Given the description of an element on the screen output the (x, y) to click on. 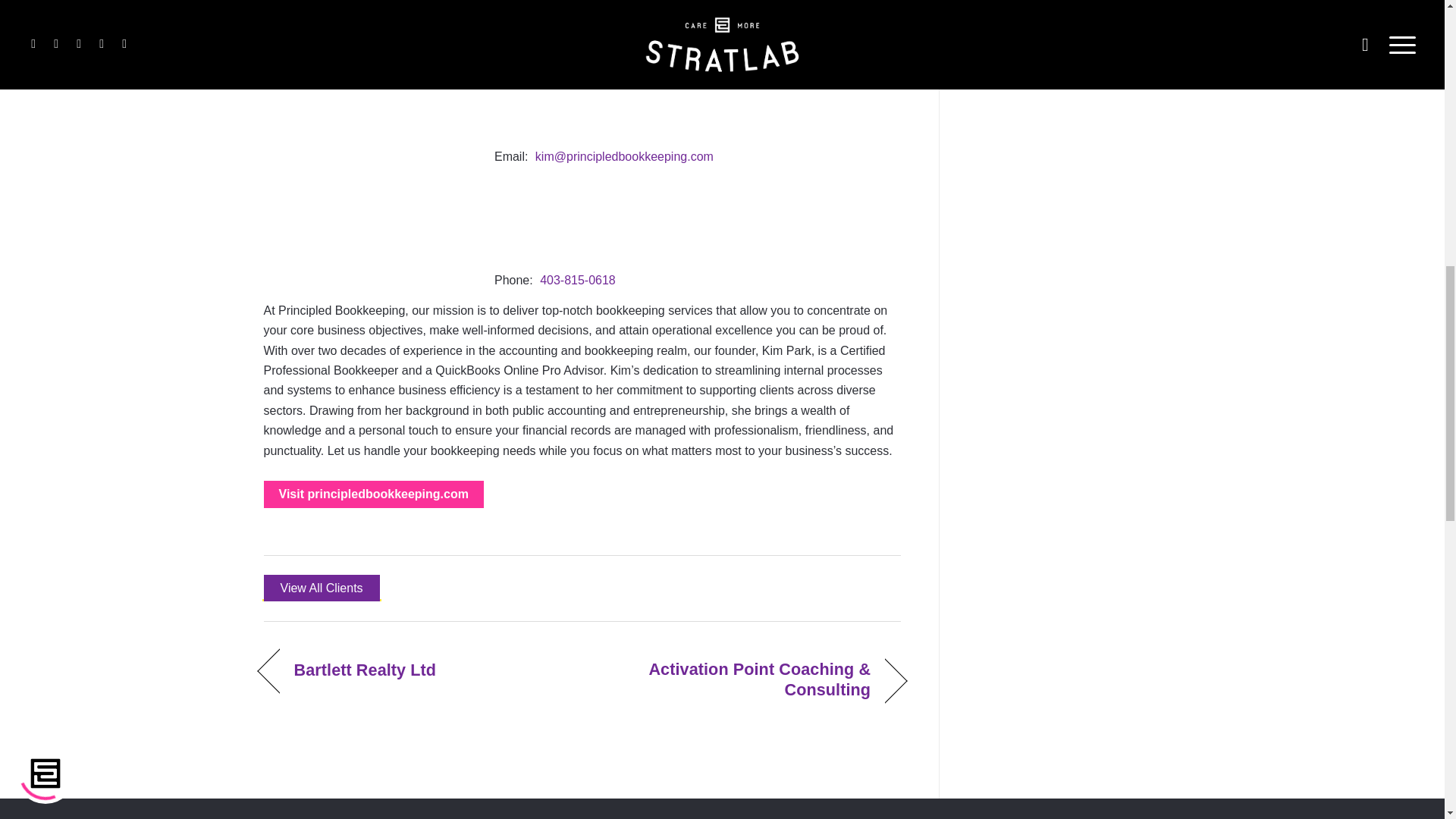
View All Clients (321, 587)
principledbookkeeping.com (373, 493)
403-815-0618 (577, 279)
